Given the description of an element on the screen output the (x, y) to click on. 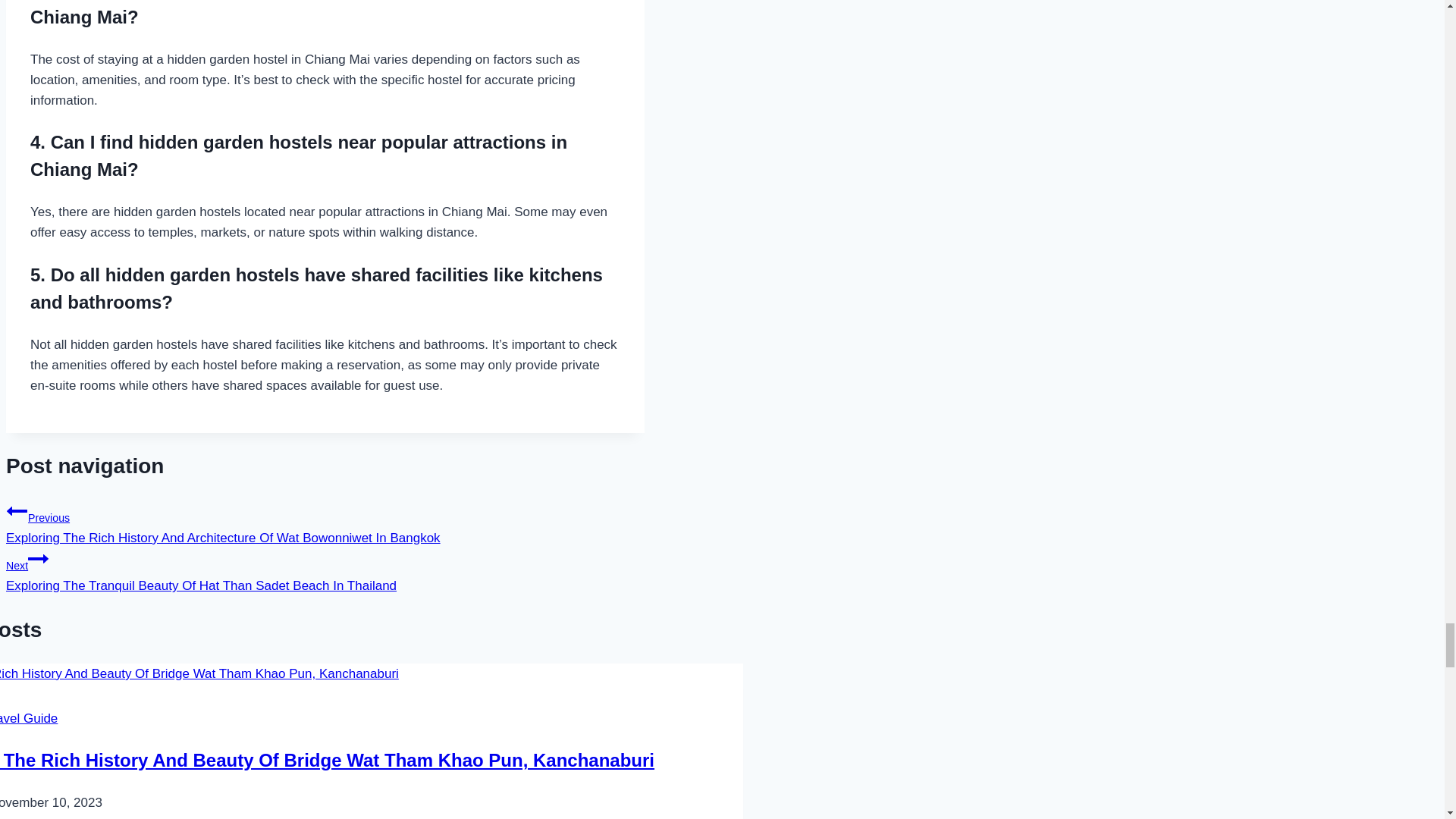
Previous (16, 510)
Continue (37, 558)
Thailand Travel Guide (29, 718)
